Given the description of an element on the screen output the (x, y) to click on. 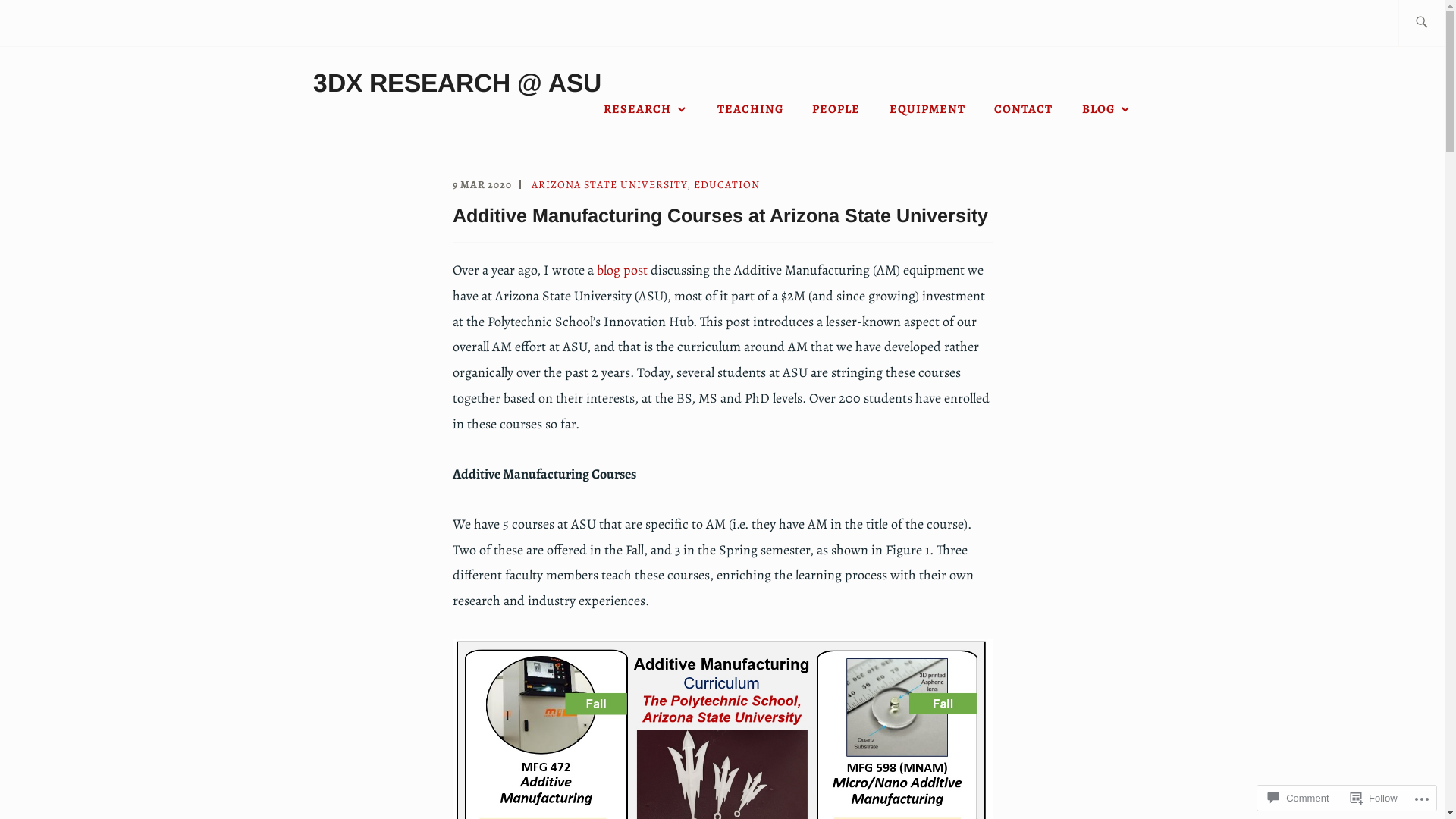
blog post Element type: text (621, 269)
TEACHING Element type: text (750, 108)
3DX RESEARCH @ ASU Element type: text (456, 83)
EQUIPMENT Element type: text (927, 108)
9 MAR 2020 Element type: text (481, 184)
Comment Element type: text (1297, 797)
PEOPLE Element type: text (835, 108)
Search for: Element type: hover (1438, 23)
BLOG Element type: text (1106, 108)
EDUCATION Element type: text (726, 184)
RESEARCH Element type: text (645, 108)
ARIZONA STATE UNIVERSITY Element type: text (608, 184)
Follow Element type: text (1373, 797)
Search Element type: text (44, 21)
CONTACT Element type: text (1023, 108)
